Given the description of an element on the screen output the (x, y) to click on. 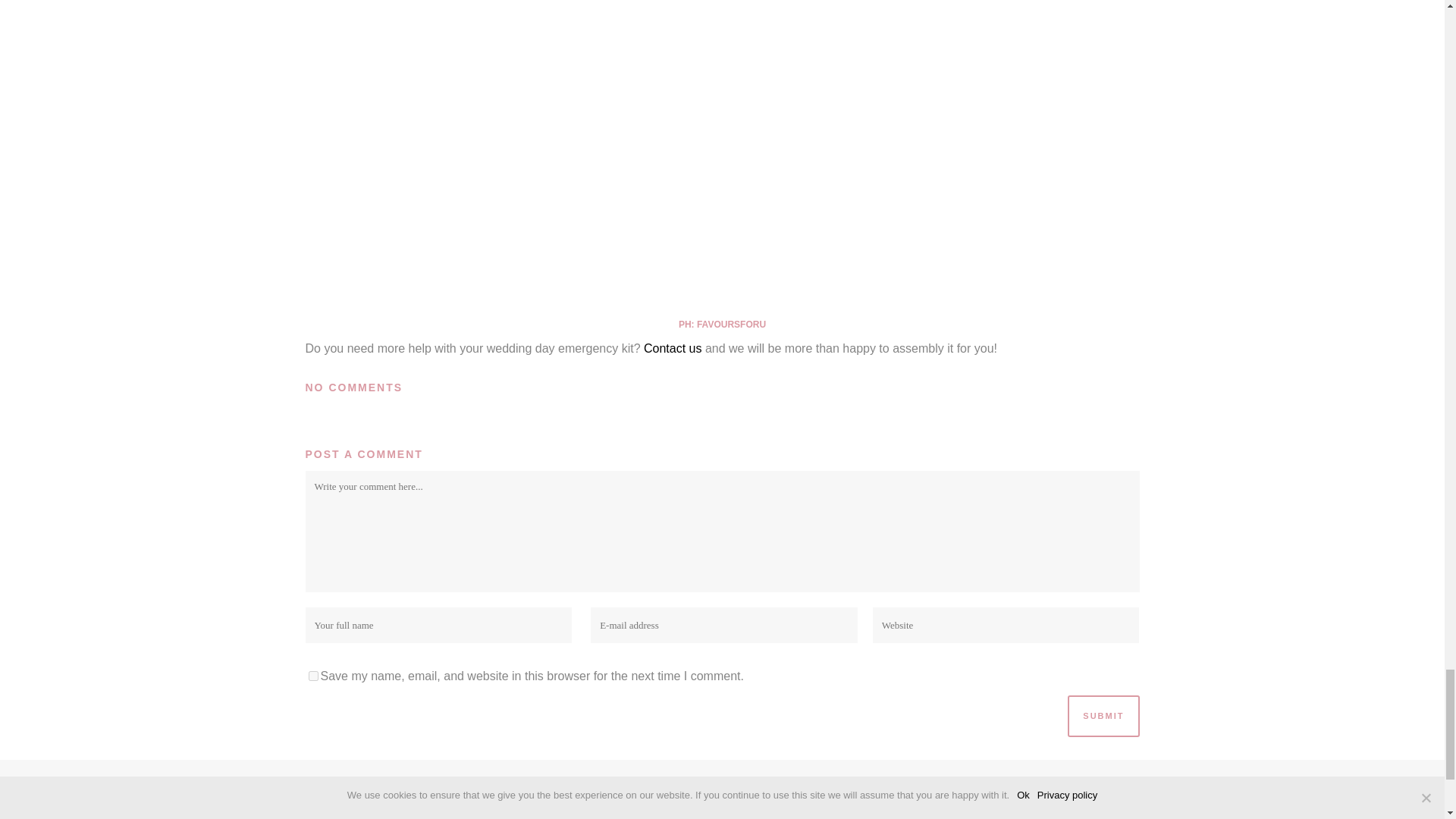
Submit (1102, 716)
Submit (1102, 716)
yes (312, 675)
Contact us (672, 348)
FAVOURSFORU (731, 324)
